Given the description of an element on the screen output the (x, y) to click on. 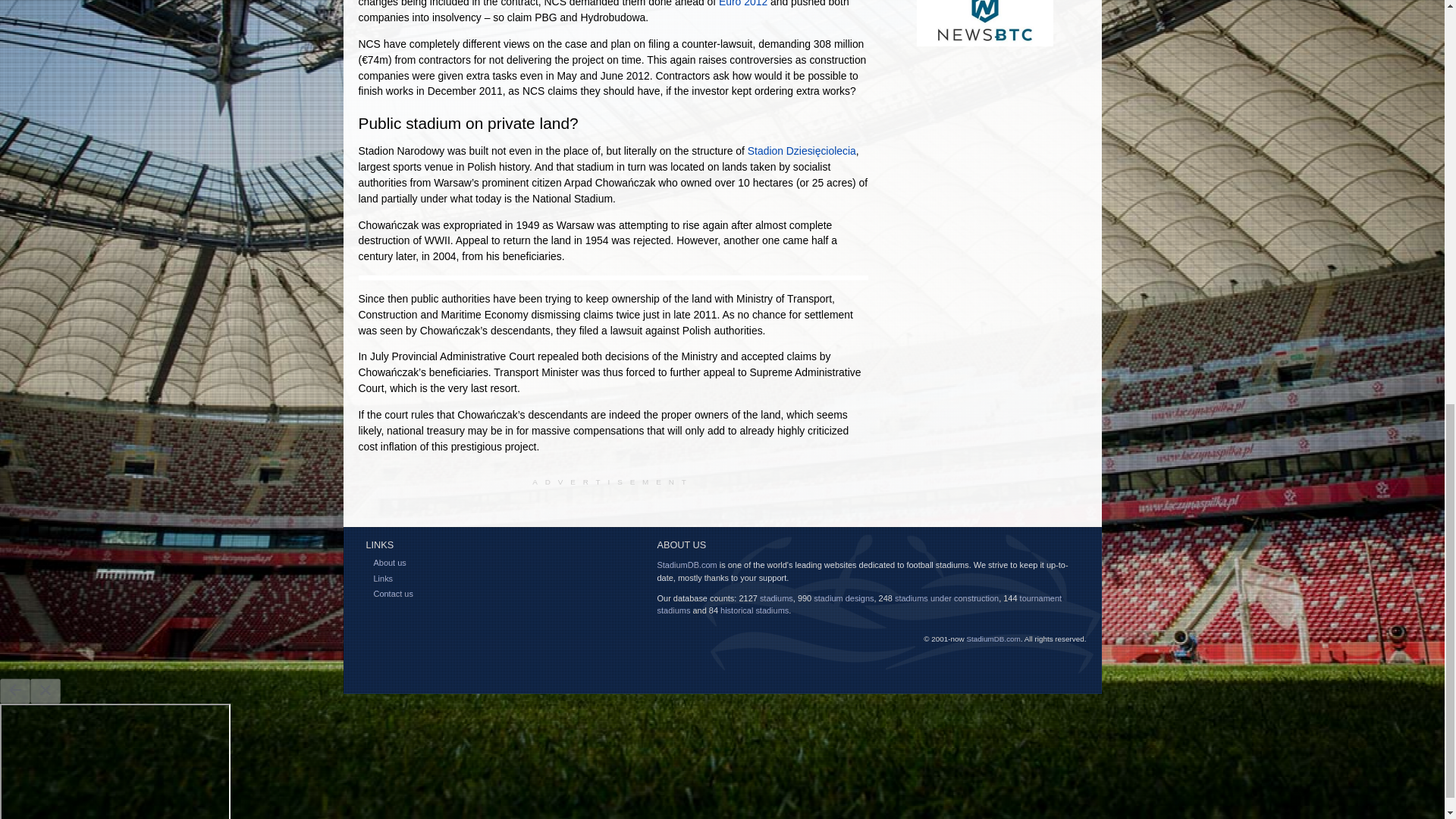
Euro 2012 (743, 3)
StadiumDB.com (686, 564)
